Given the description of an element on the screen output the (x, y) to click on. 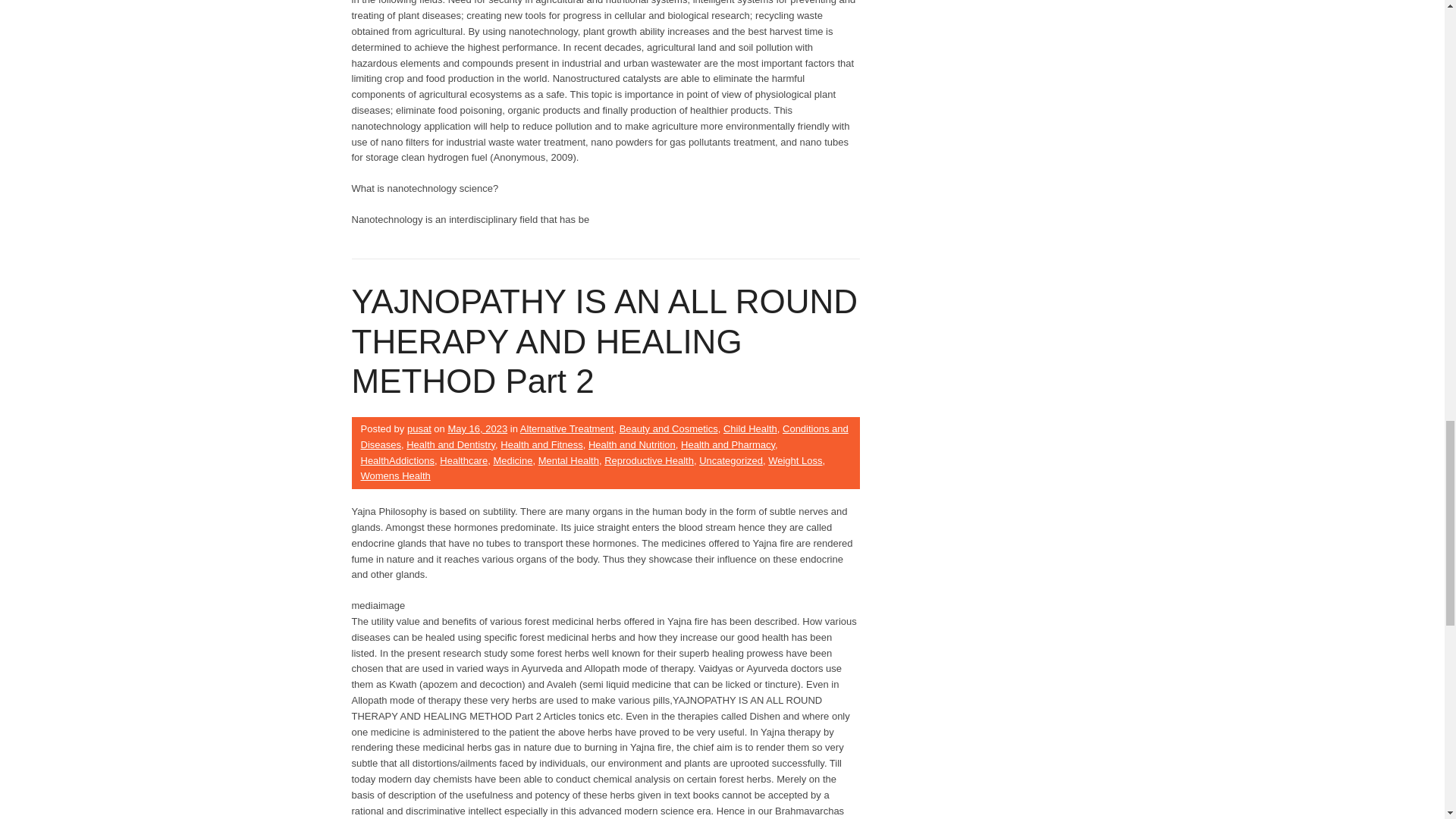
Beauty and Cosmetics (668, 428)
Mental Health (568, 460)
Medicine (512, 460)
Weight Loss (795, 460)
Health and Nutrition (631, 444)
Health and Pharmacy (727, 444)
Child Health (750, 428)
Health and Fitness (541, 444)
pusat (418, 428)
Alternative Treatment (566, 428)
HealthAddictions (398, 460)
Uncategorized (730, 460)
Healthcare (463, 460)
YAJNOPATHY IS AN ALL ROUND THERAPY AND HEALING METHOD Part 2 (605, 341)
Conditions and Diseases (604, 436)
